Given the description of an element on the screen output the (x, y) to click on. 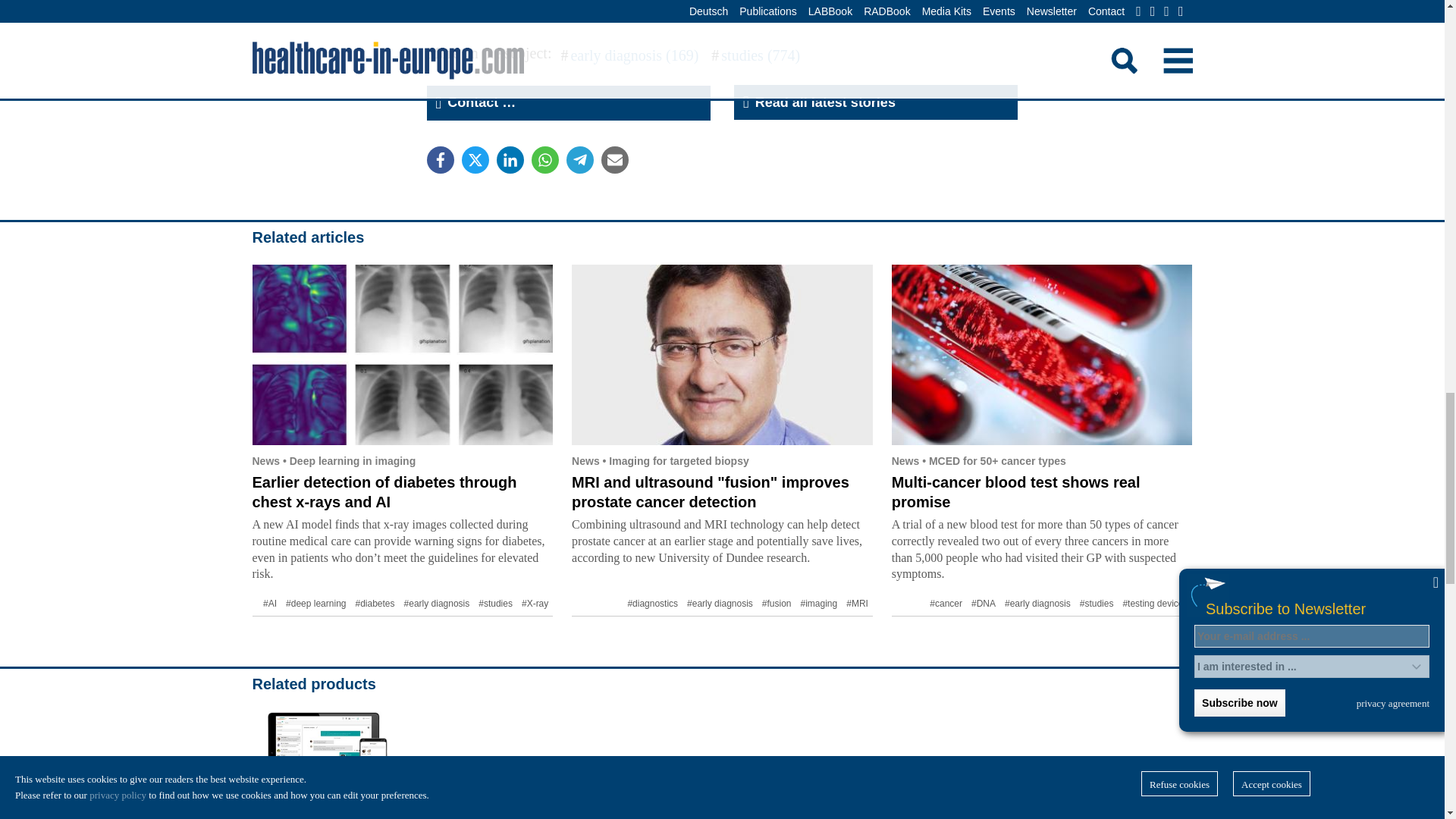
Earlier detection of diabetes through chest x-rays and AI (402, 354)
Share via e-mail (613, 159)
Share on WhatsApp (544, 159)
Earlier detection of diabetes through chest x-rays and AI (383, 492)
Share on Telegram (579, 159)
Read all latest stories (875, 102)
Share on Linked-in (509, 159)
Multi-cancer blood test shows real promise (1041, 354)
Share on twitter (474, 159)
Multi-cancer blood test shows real promise (1015, 492)
Earlier detection of diabetes through chest x-rays and AI (383, 492)
Share on facebook (439, 159)
